Given the description of an element on the screen output the (x, y) to click on. 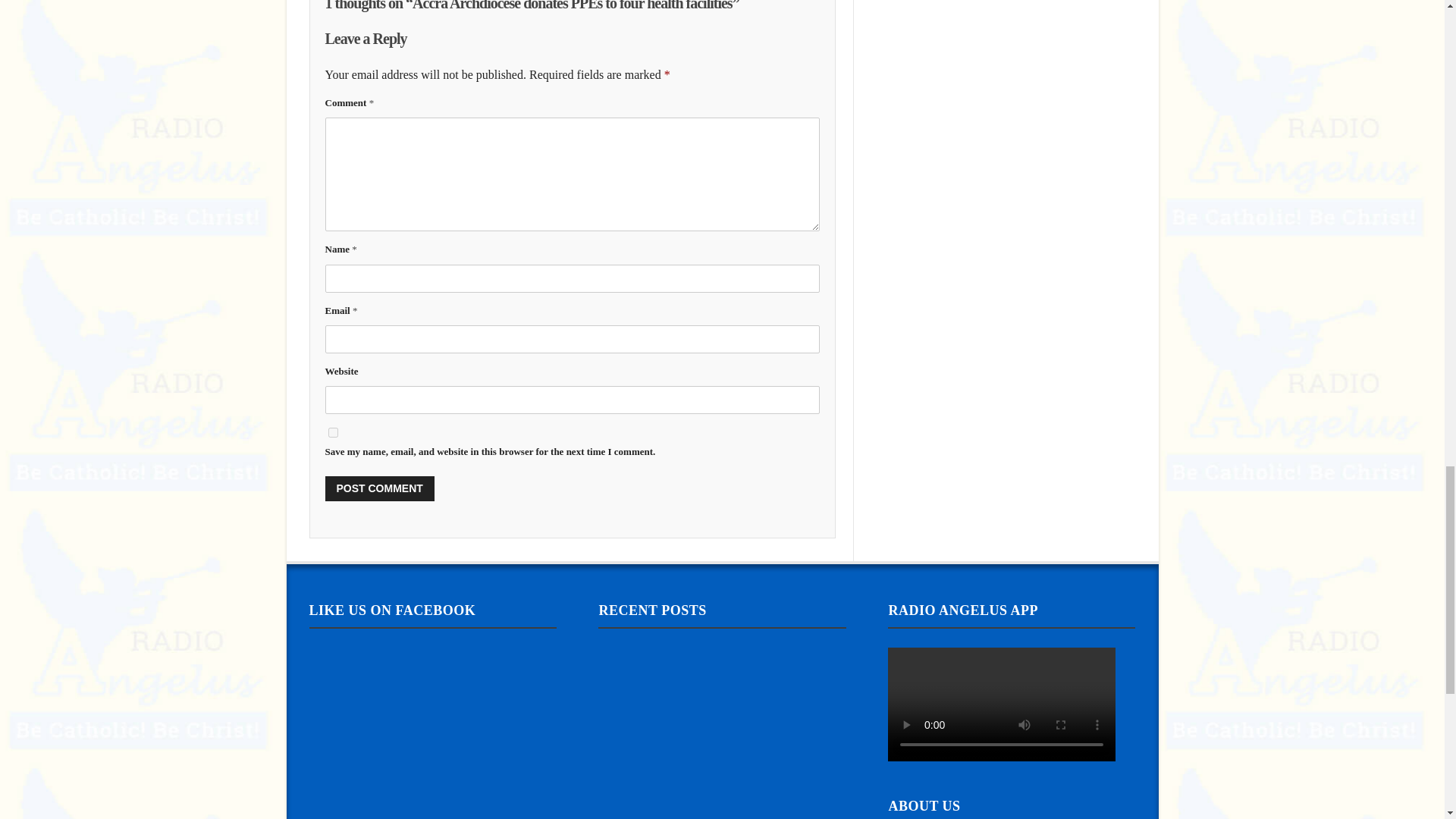
Post Comment (378, 488)
yes (332, 432)
